Given the description of an element on the screen output the (x, y) to click on. 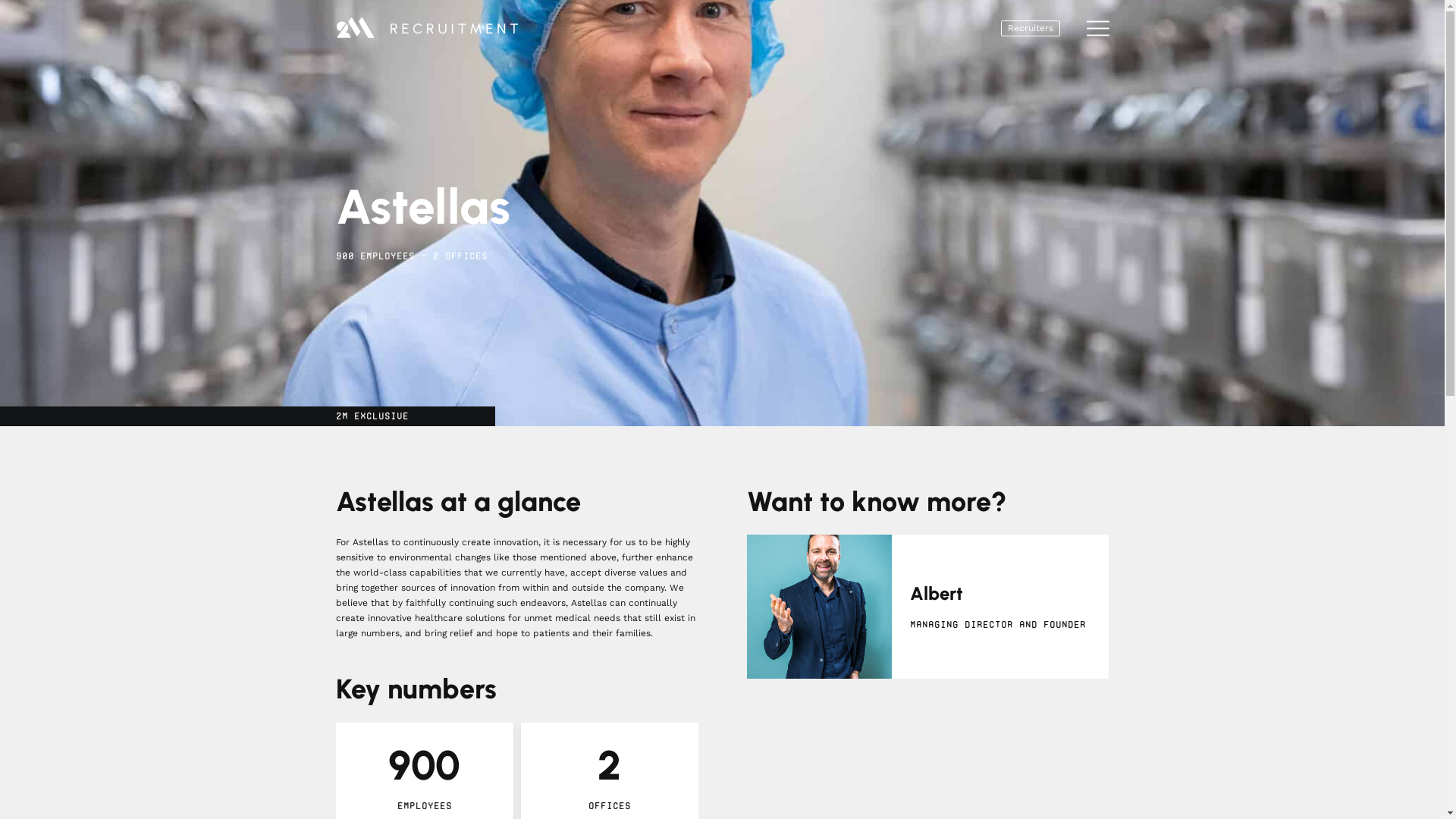
Recruiters Element type: text (1030, 28)
Go to home page Element type: hover (439, 28)
